Given the description of an element on the screen output the (x, y) to click on. 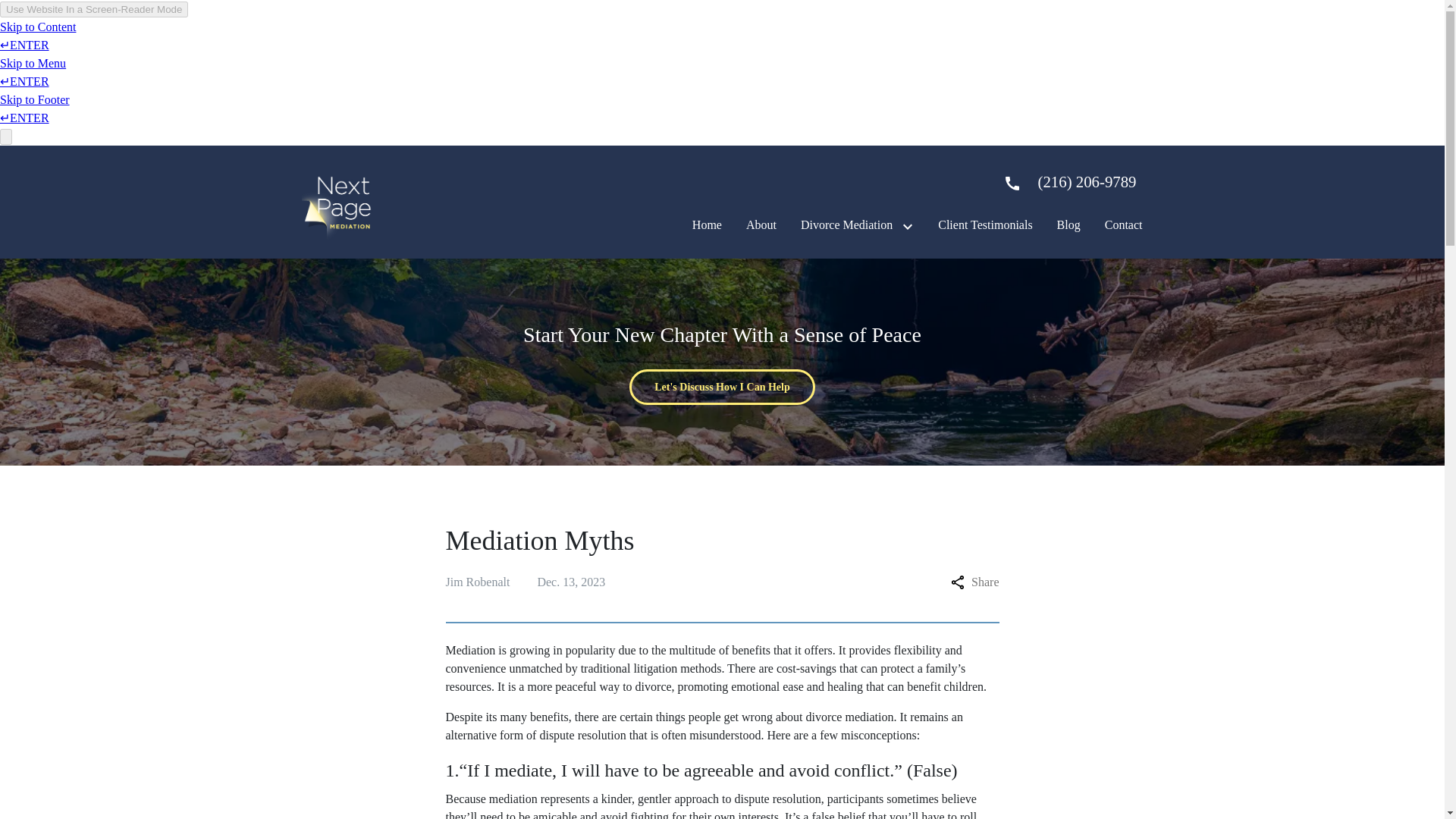
Share (974, 582)
Let's Discuss How I Can Help (721, 386)
Home (707, 224)
Divorce Mediation (846, 224)
About (760, 224)
Client Testimonials (984, 224)
Blog (1068, 224)
Contact (1123, 224)
